Given the description of an element on the screen output the (x, y) to click on. 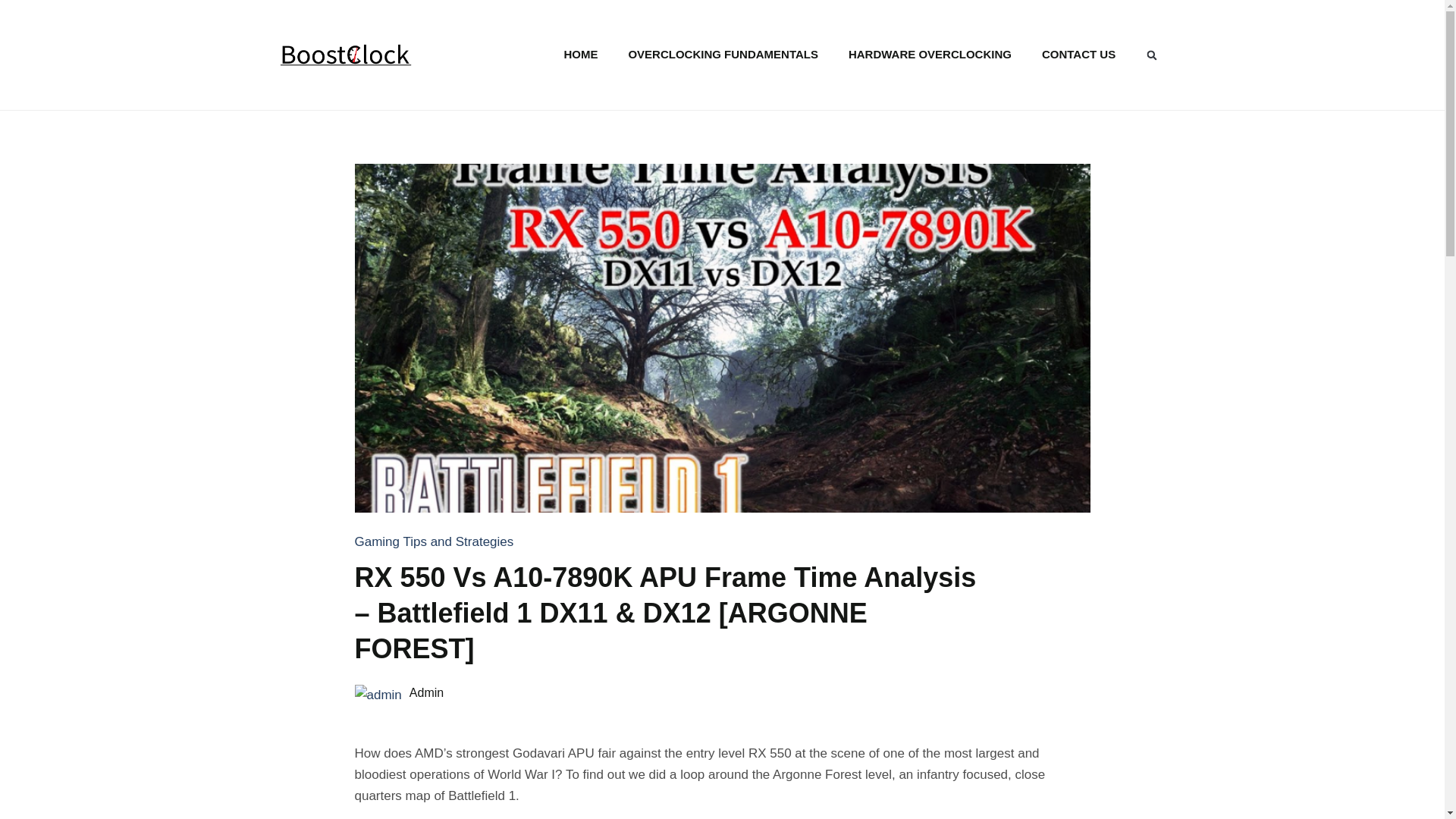
HOME (580, 54)
HARDWARE OVERCLOCKING (929, 54)
OVERCLOCKING FUNDAMENTALS (722, 54)
Admin (749, 692)
Gaming Tips and Strategies (434, 541)
CONTACT US (1078, 54)
